Given the description of an element on the screen output the (x, y) to click on. 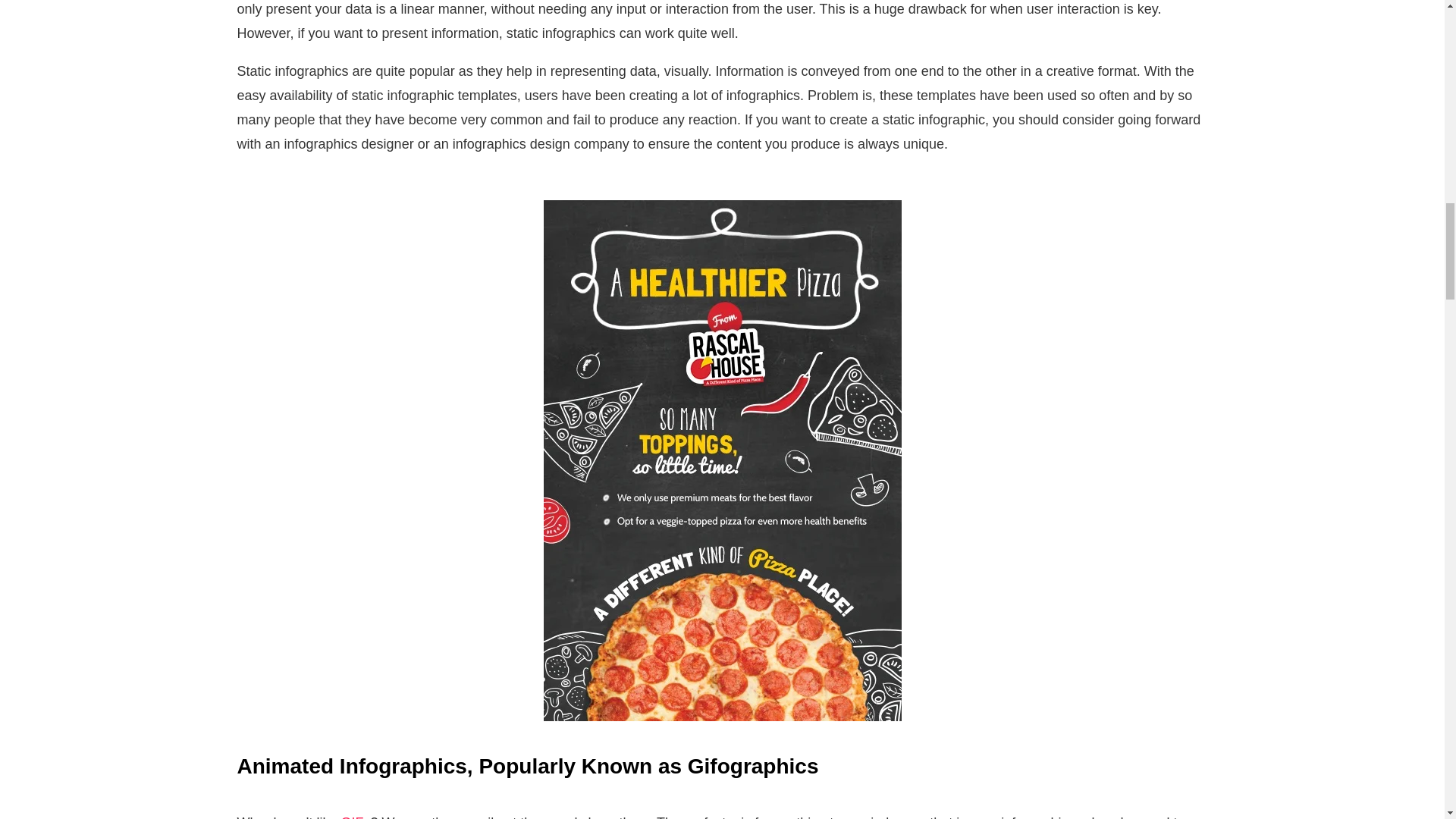
 GIFs (354, 816)
